Given the description of an element on the screen output the (x, y) to click on. 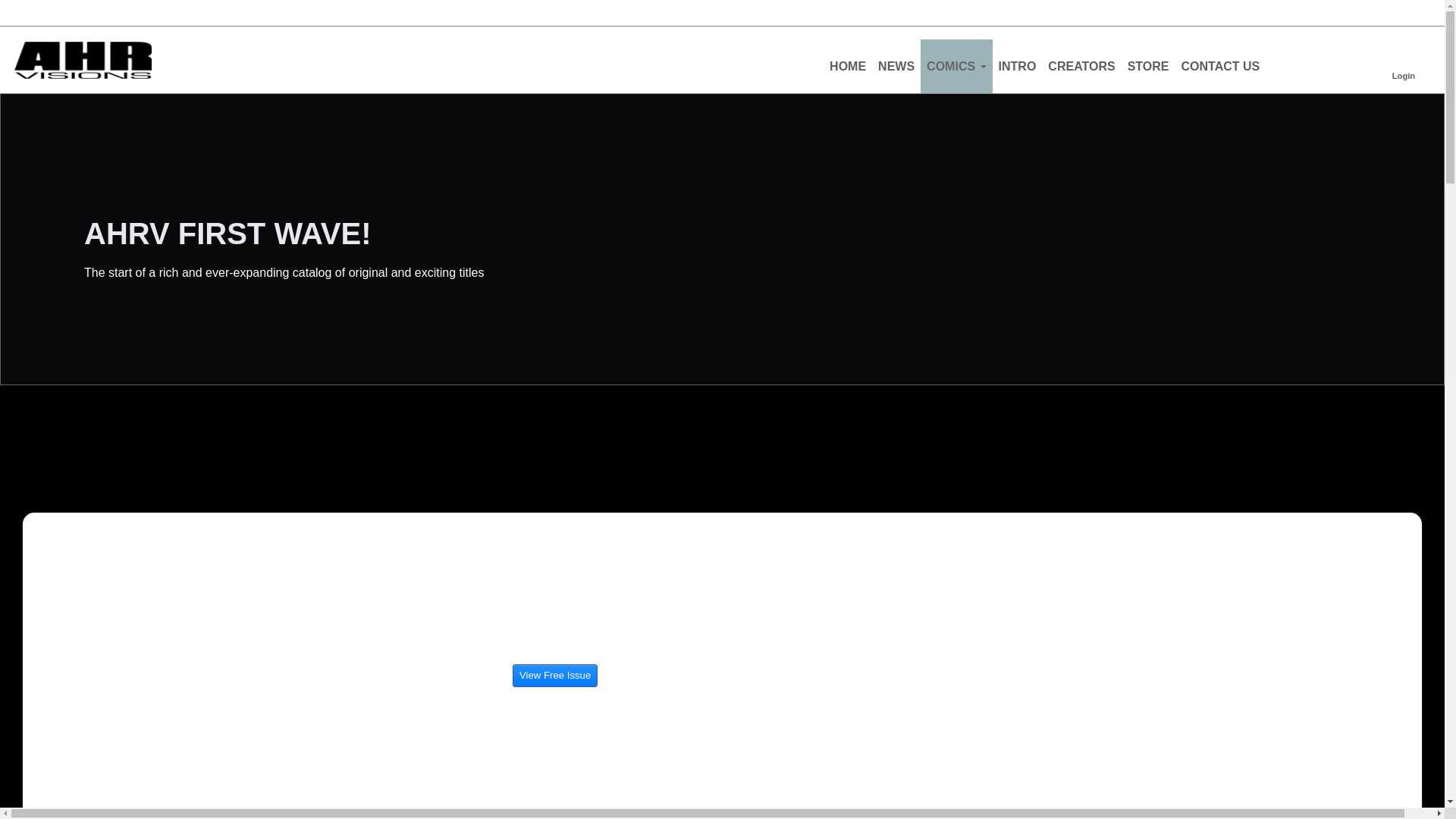
View Free Issue (554, 675)
STORE (1147, 66)
HOME (848, 66)
NEWS (896, 66)
CONTACT US (1219, 66)
INTRO (1017, 66)
COMICS (955, 66)
CREATORS (1081, 66)
